Given the description of an element on the screen output the (x, y) to click on. 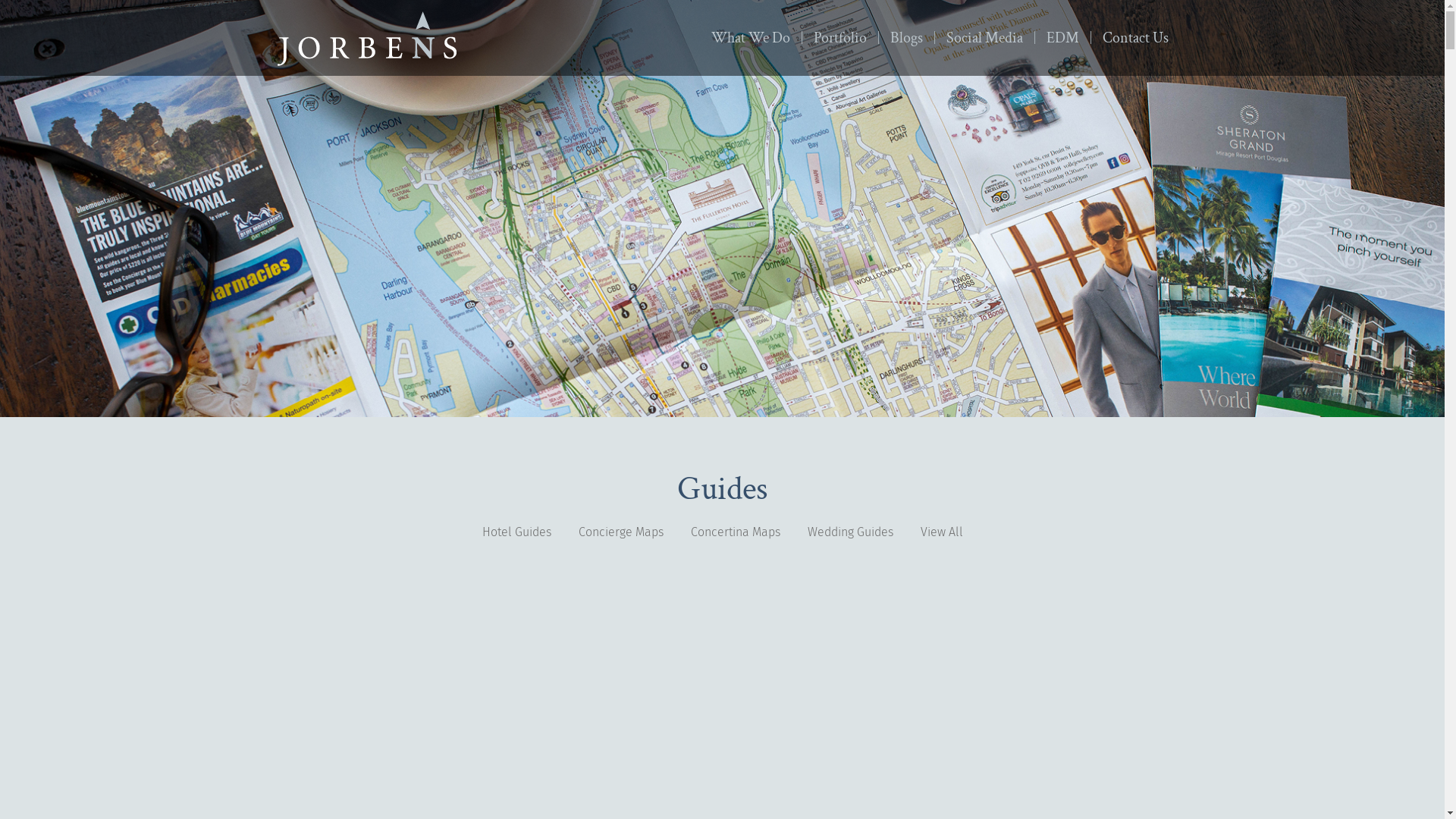
Hotel Guides Element type: text (516, 531)
Concierge Maps Element type: text (620, 531)
Concertina Maps Element type: text (734, 531)
View All Element type: text (941, 531)
|
Social Media Element type: text (981, 37)
Wedding Guides Element type: text (849, 531)
|
Blogs Element type: text (903, 37)
|
Portfolio Element type: text (837, 37)
|
EDM Element type: text (1059, 37)
What We Do Element type: text (750, 37)
|
Contact Us Element type: text (1131, 37)
